Given the description of an element on the screen output the (x, y) to click on. 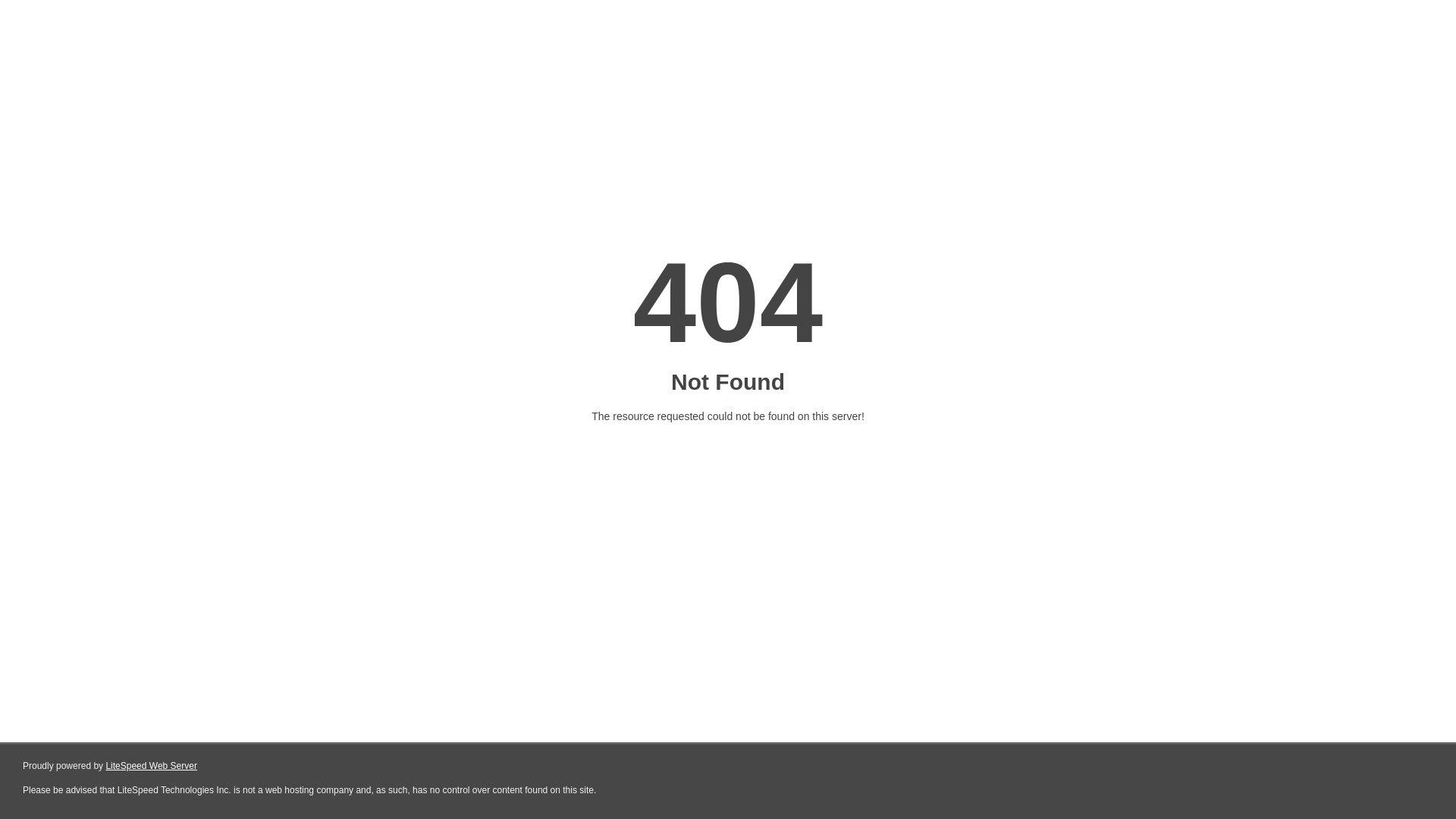
LiteSpeed Web Server Element type: text (151, 765)
